Given the description of an element on the screen output the (x, y) to click on. 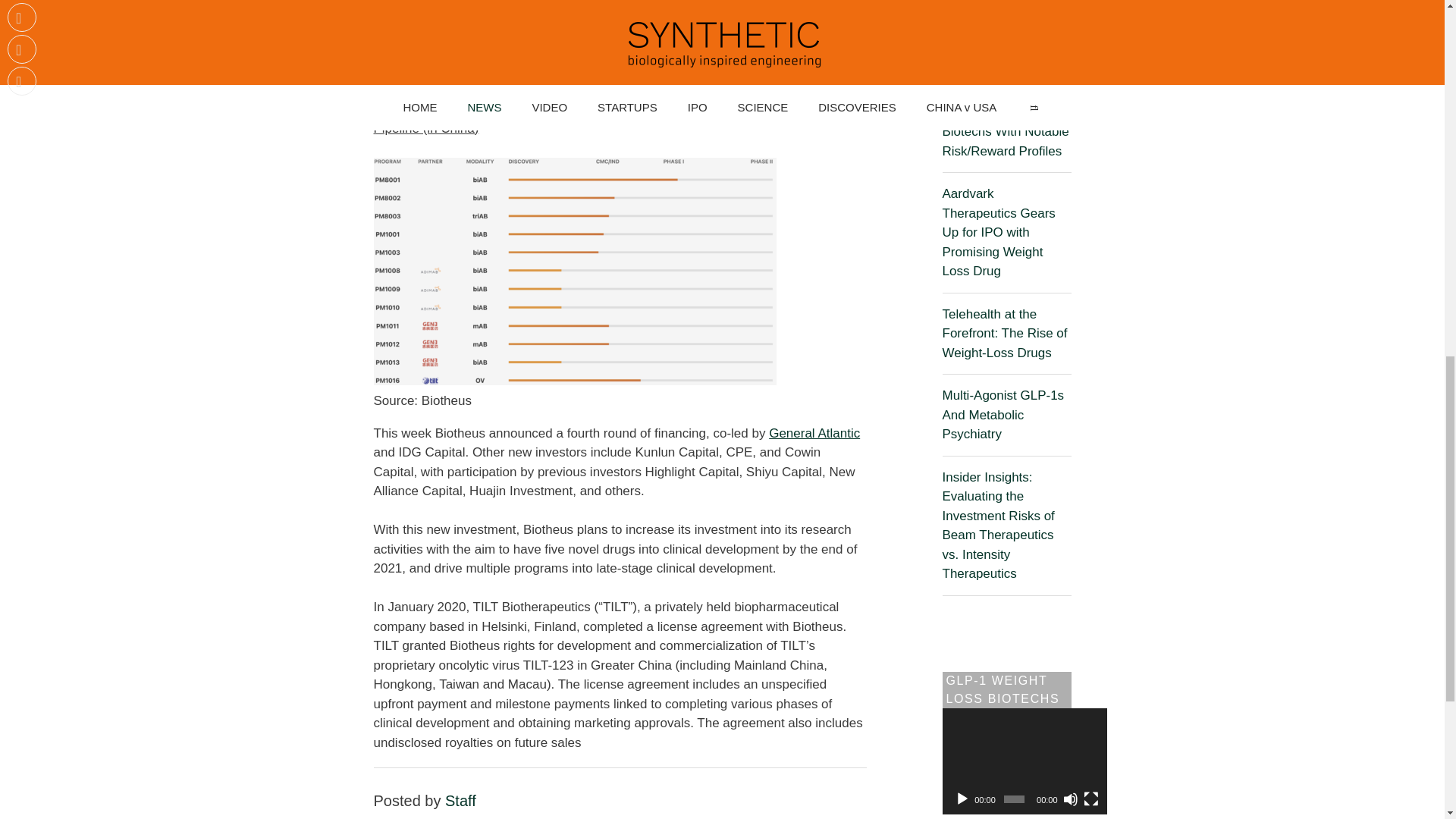
General Atlantic (814, 432)
Staff (460, 800)
Play (961, 798)
Mute (1070, 798)
Posted byStaff  (460, 800)
